Given the description of an element on the screen output the (x, y) to click on. 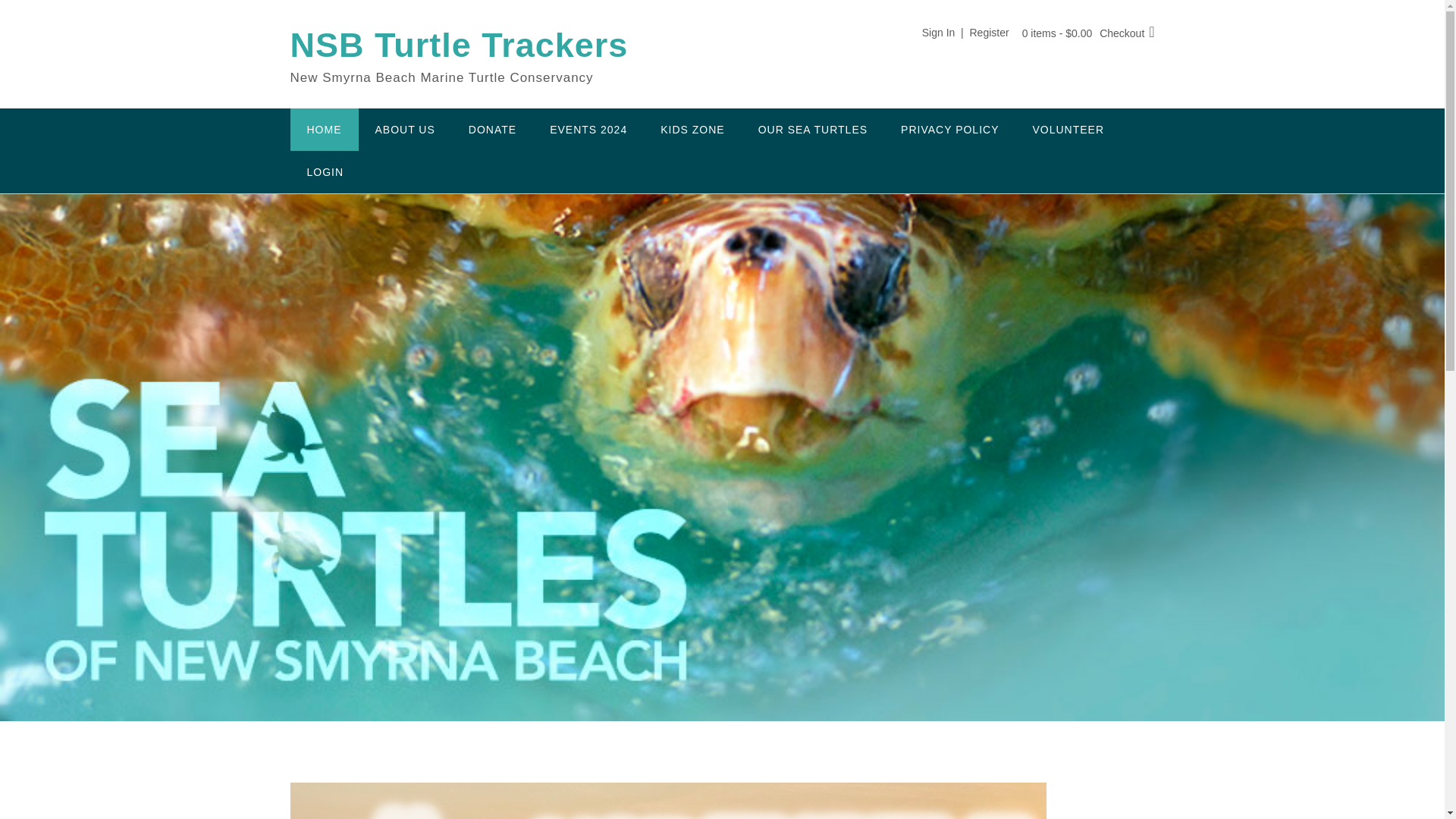
HOME (323, 129)
LOGIN (324, 171)
EVENTS 2024 (587, 129)
PRIVACY POLICY (948, 129)
NSB Turtle Trackers (458, 45)
NSB Turtle Trackers (458, 45)
OUR SEA TURTLES (812, 129)
KIDS ZONE (692, 129)
ABOUT US (404, 129)
DONATE (491, 129)
